Given the description of an element on the screen output the (x, y) to click on. 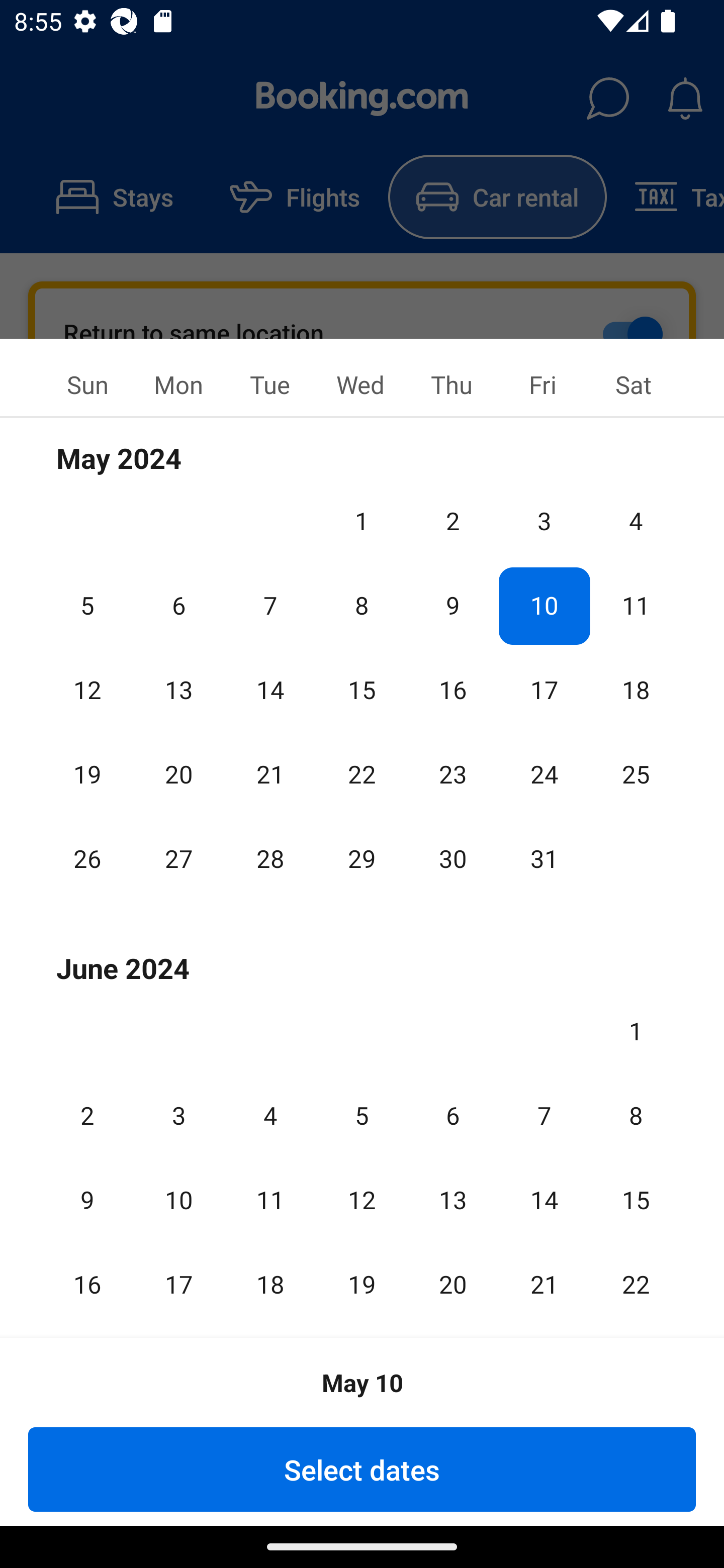
Select dates (361, 1468)
